Given the description of an element on the screen output the (x, y) to click on. 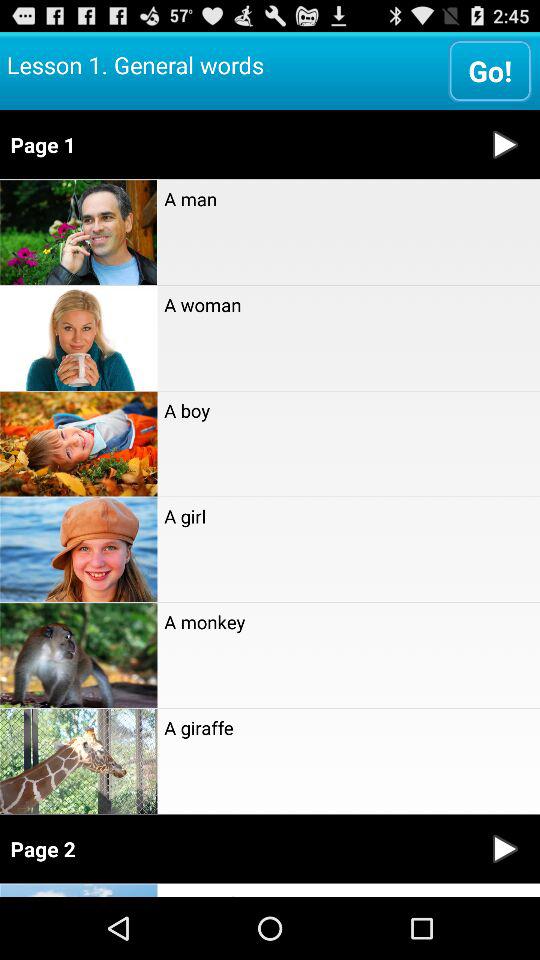
flip to a woman (348, 304)
